Given the description of an element on the screen output the (x, y) to click on. 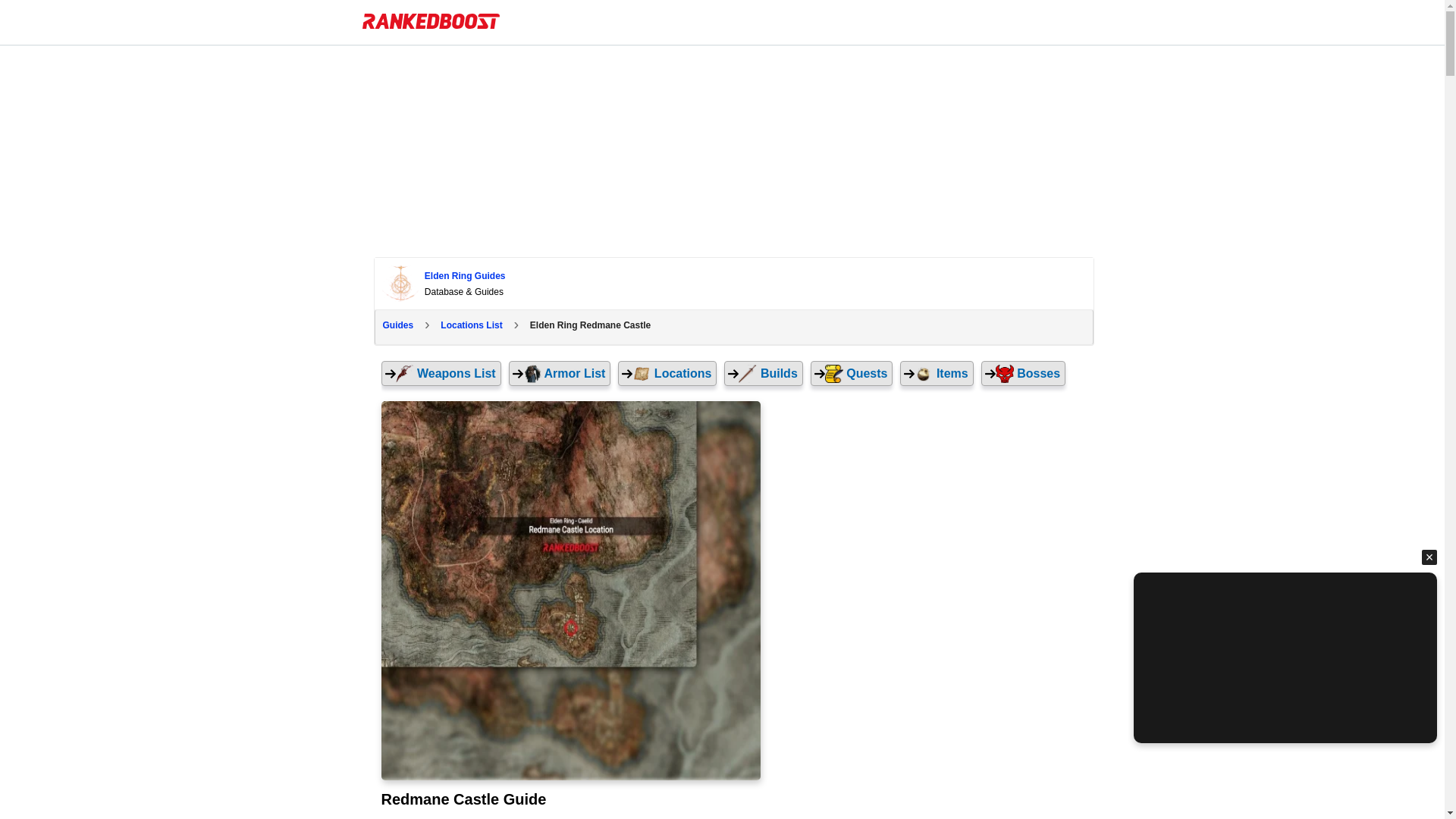
Armor List (559, 373)
Locations (666, 373)
Locations List (470, 325)
Quests (851, 373)
Items (935, 373)
Guides (397, 325)
Builds (762, 373)
Elden Ring (733, 283)
Weapons List (440, 373)
Bosses (1023, 373)
